Given the description of an element on the screen output the (x, y) to click on. 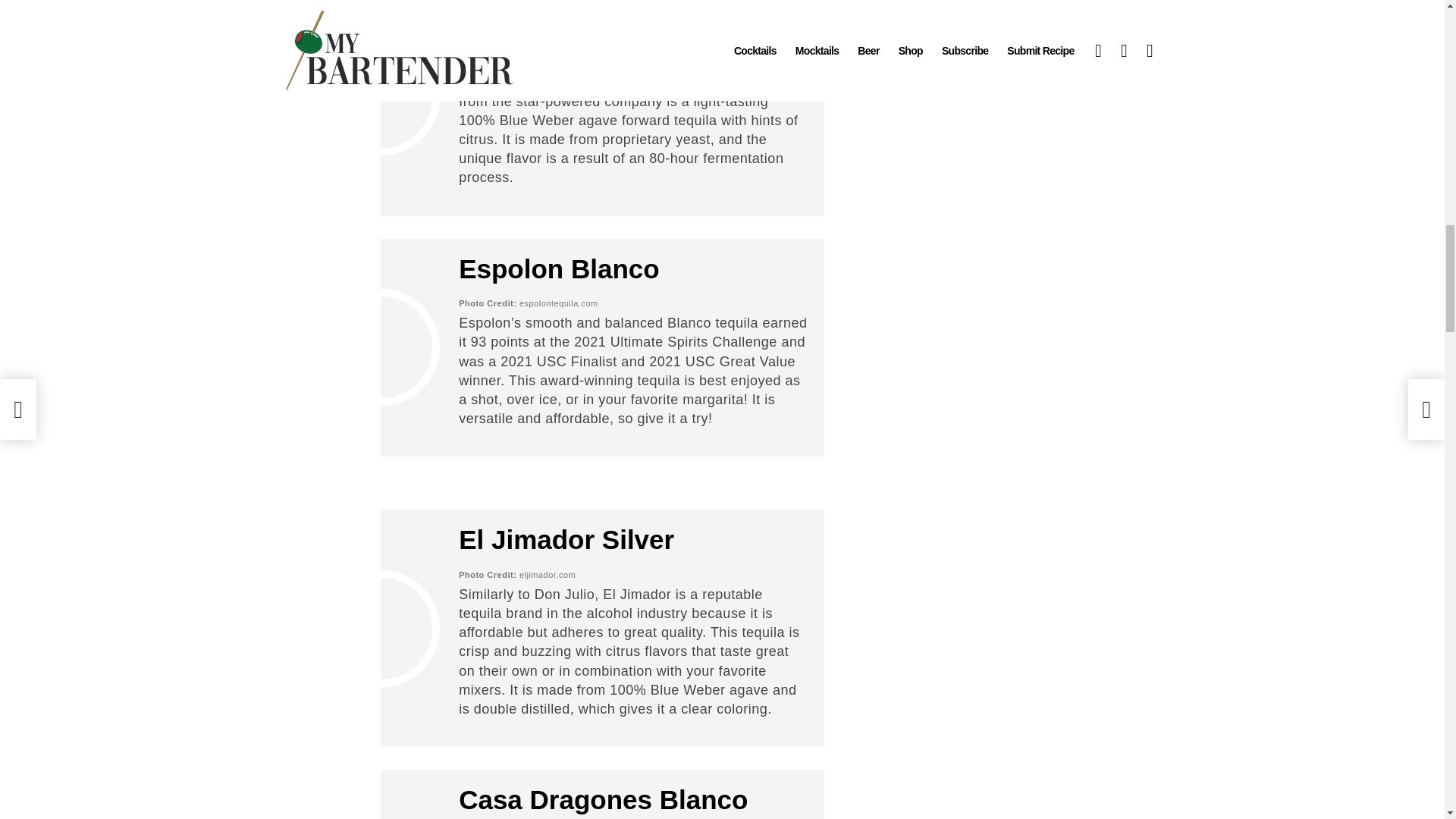
10 Must-Try Blanco Tequilas 4 (381, 96)
10 Must-Try Blanco Tequilas 6 (381, 628)
Espolon Blanco (558, 268)
El Jimador Silver (566, 539)
Casa Dragones Blanco (603, 799)
10 Must-Try Blanco Tequilas 5 (381, 347)
Casamigos Blanco (576, 11)
